Given the description of an element on the screen output the (x, y) to click on. 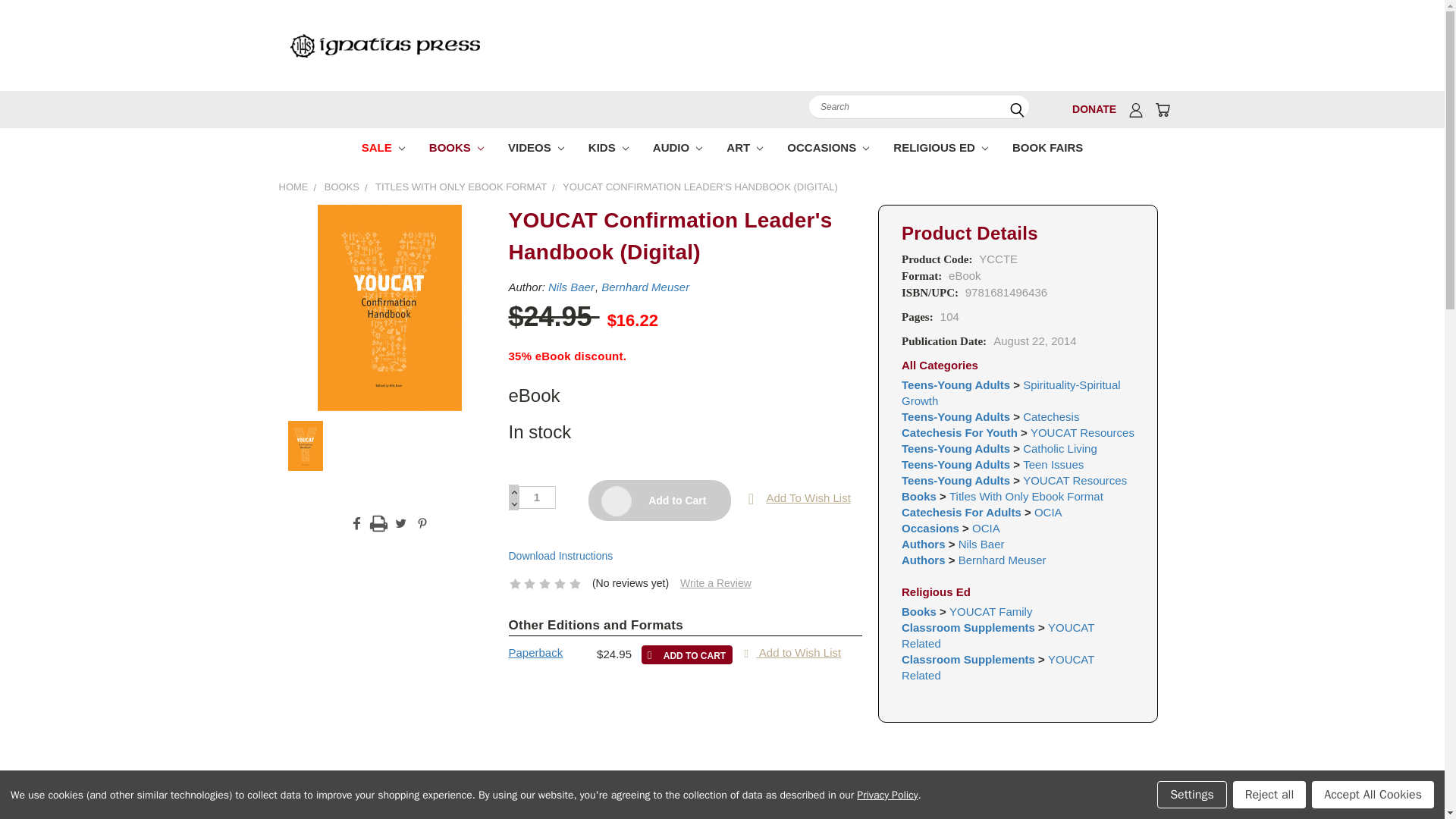
Submit Search (1017, 109)
Add to Cart (687, 654)
1 (537, 497)
Add to Cart (659, 499)
Cart (1161, 109)
User Toolbox (1135, 109)
Ignatius Press (384, 44)
